Given the description of an element on the screen output the (x, y) to click on. 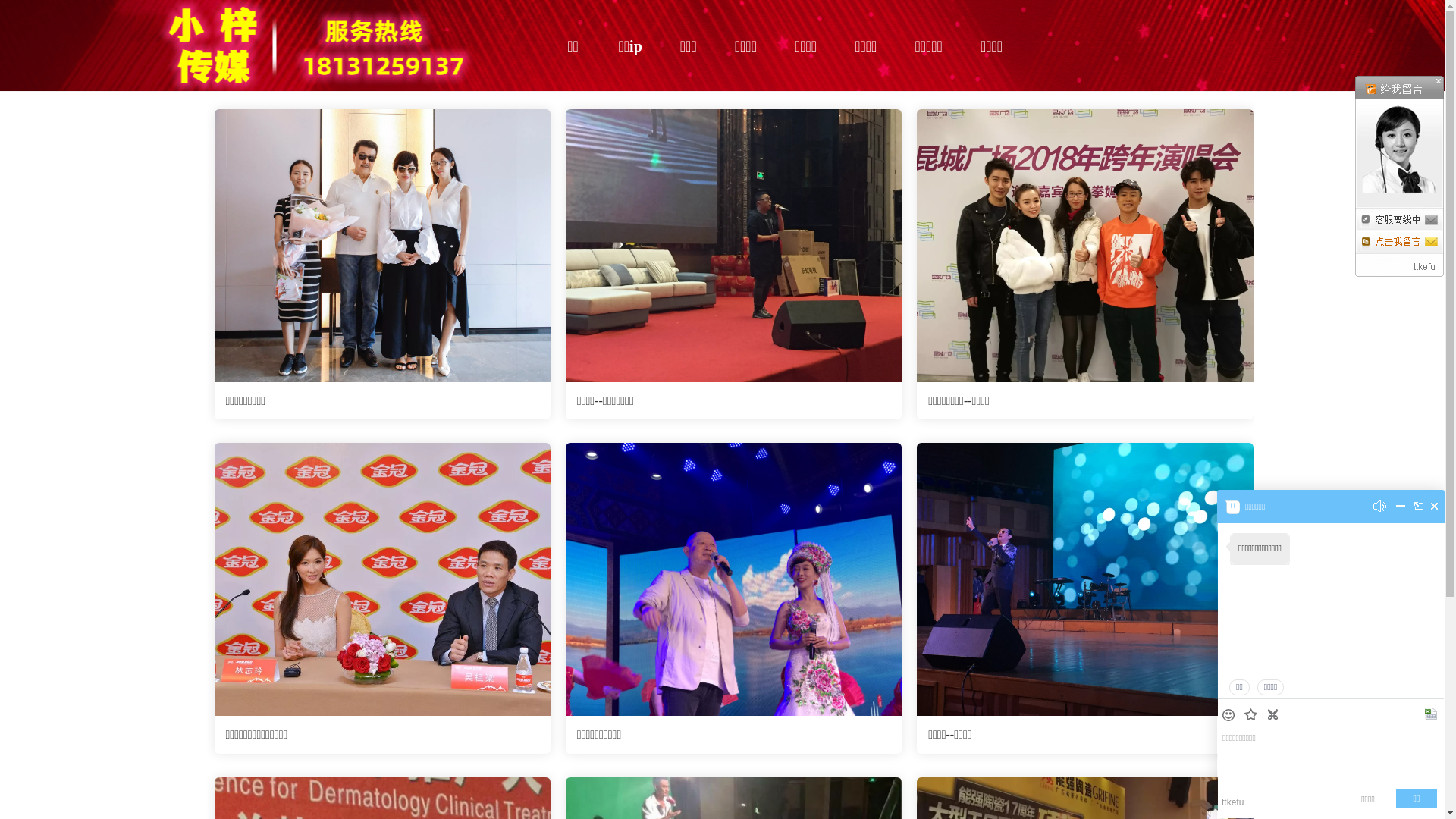
  Element type: text (1430, 714)
  Element type: text (1434, 505)
  Element type: text (1400, 509)
  Element type: text (1229, 715)
  Element type: text (1251, 715)
  Element type: text (1273, 714)
